Given the description of an element on the screen output the (x, y) to click on. 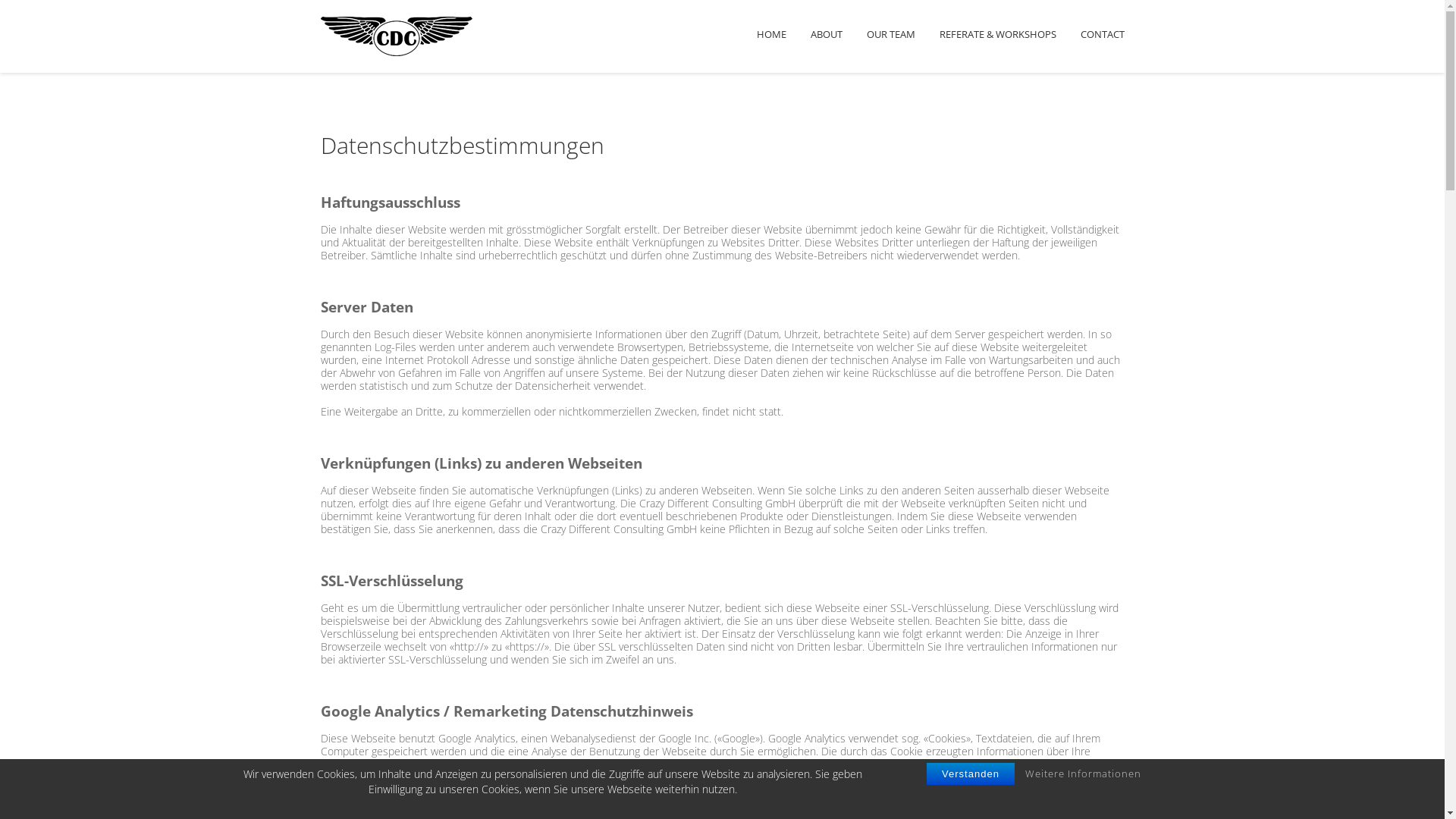
CONTACT Element type: text (1101, 35)
Verstanden Element type: text (970, 773)
OUR TEAM Element type: text (890, 35)
Weitere Informationen Element type: text (1082, 773)
Verstanden Element type: text (970, 773)
ABOUT Element type: text (825, 35)
REFERATE & WORKSHOPS Element type: text (996, 35)
HOME Element type: text (771, 35)
